Given the description of an element on the screen output the (x, y) to click on. 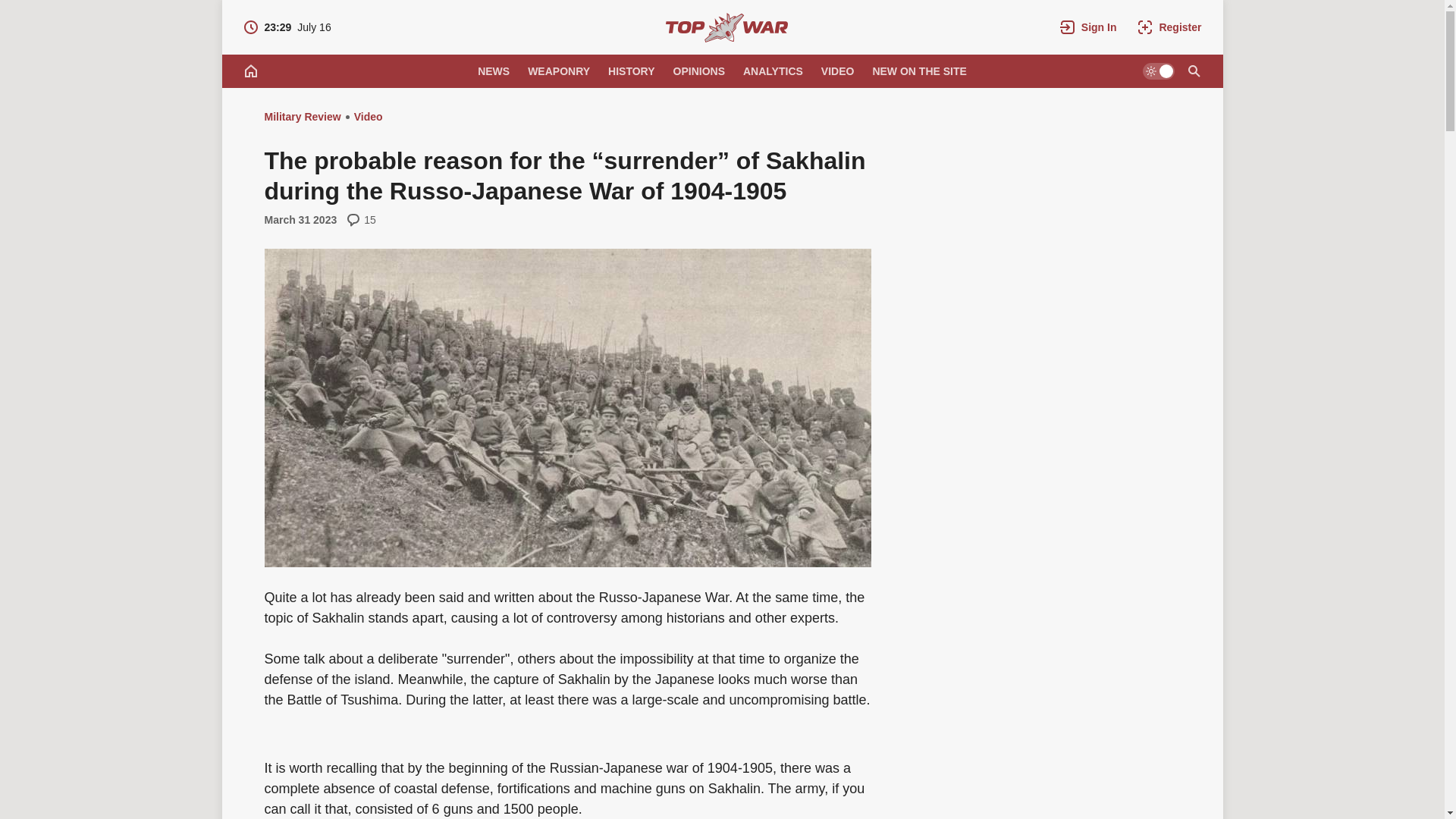
NEW ON THE SITE (919, 70)
VIDEO (837, 70)
Sign In (1088, 27)
OPINIONS (698, 70)
Site search (1192, 70)
ANALYTICS (772, 70)
Register (1168, 27)
HISTORY (630, 70)
Military Review (286, 27)
NEWS (726, 27)
Military Review (493, 70)
WEAPONRY (301, 116)
